Given the description of an element on the screen output the (x, y) to click on. 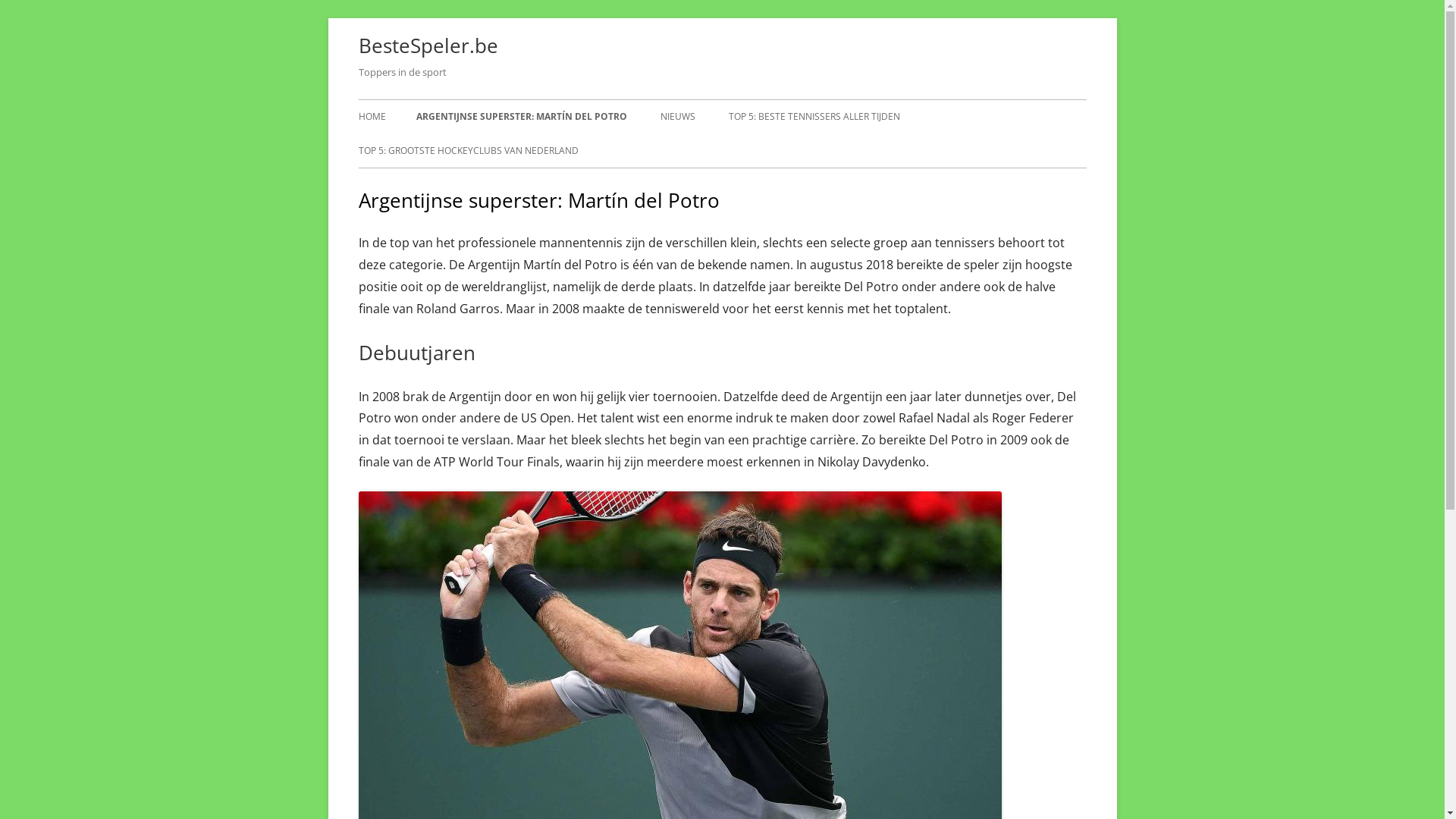
HOME Element type: text (371, 116)
BesteSpeler.be Element type: text (427, 45)
TOP 5: BESTE TENNISSERS ALLER TIJDEN Element type: text (813, 116)
NIEUWS Element type: text (676, 116)
TOP 5: GROOTSTE HOCKEYCLUBS VAN NEDERLAND Element type: text (467, 150)
